Given the description of an element on the screen output the (x, y) to click on. 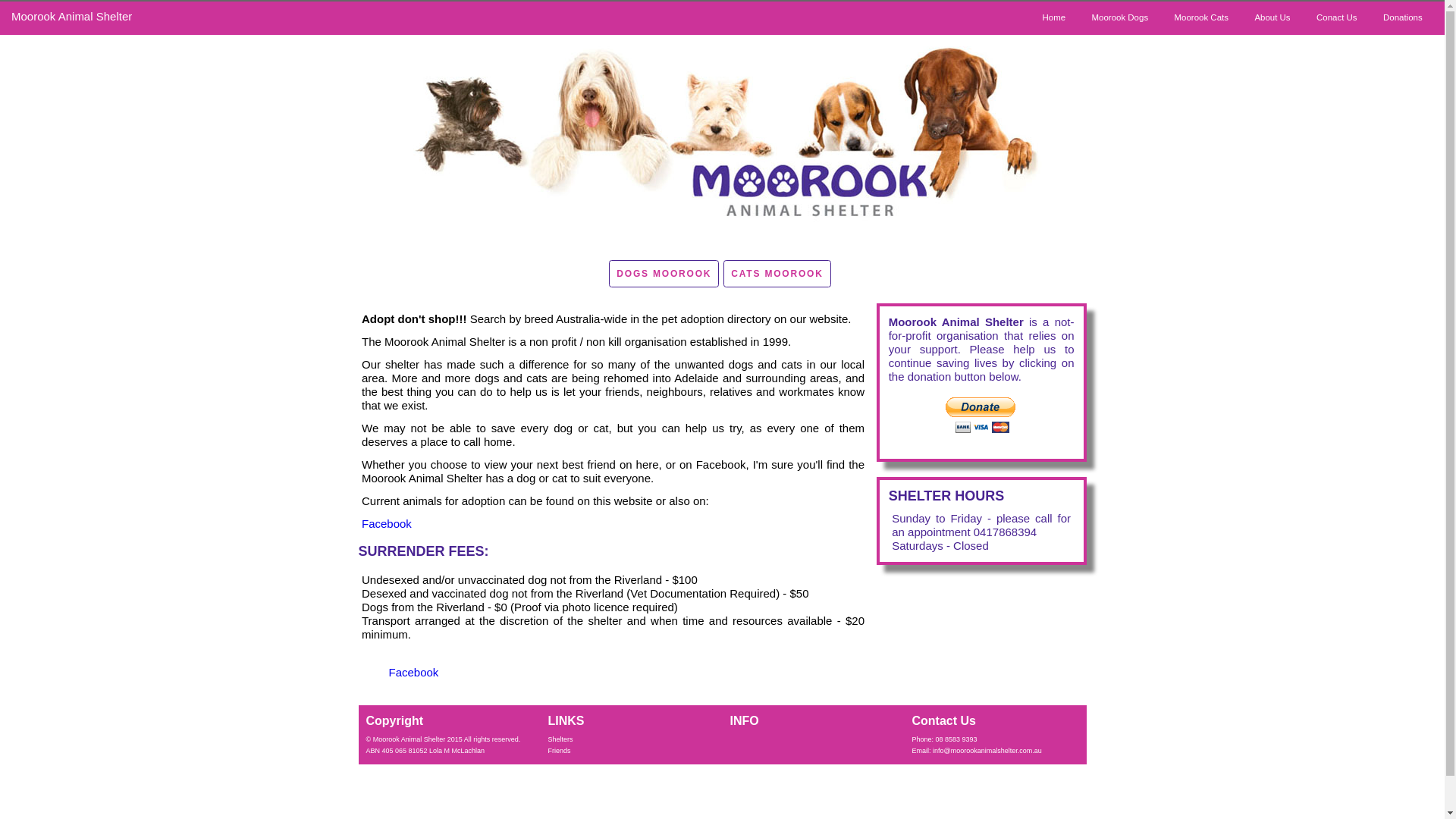
CATS MOOROOK Element type: text (776, 273)
DOGS MOOROOK Element type: text (663, 273)
Moorook Cats Element type: text (1201, 18)
Moorook Dogs Element type: text (1119, 18)
Conact Us Element type: text (1336, 18)
Donations Element type: text (1402, 18)
Facebook Element type: text (386, 523)
Home Element type: text (1053, 18)
About Us Element type: text (1272, 18)
Facebook Element type: text (413, 671)
Shelters Element type: text (559, 739)
info@moorookanimalshelter.com.au Element type: text (986, 750)
Friends Element type: text (558, 750)
